Given the description of an element on the screen output the (x, y) to click on. 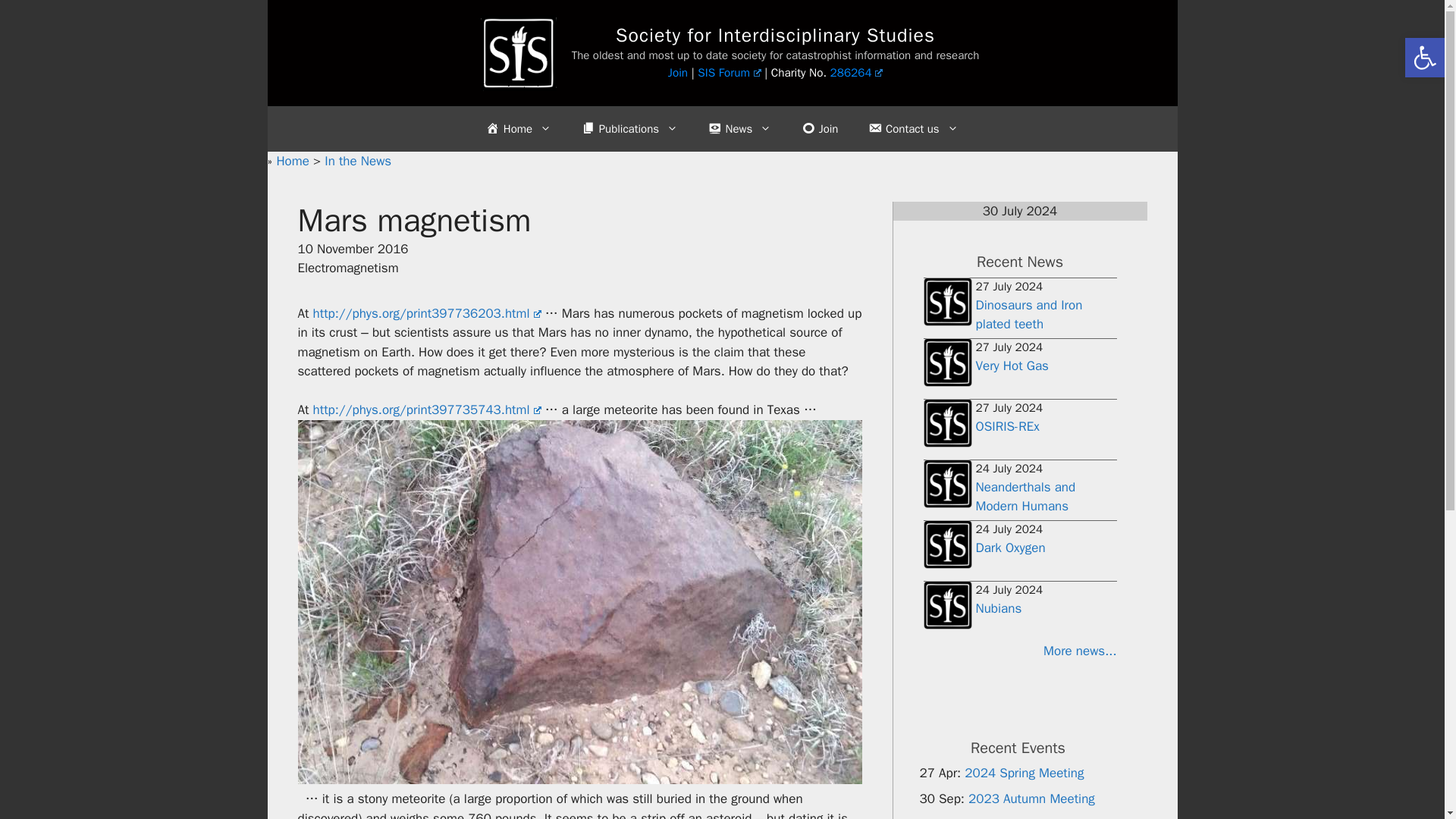
Join (677, 72)
Society for Interdisciplinary Studies (774, 34)
Join (819, 128)
Accessibility Tools (1424, 57)
Publications (629, 128)
SIS Forum (728, 72)
News (739, 128)
Home (518, 128)
286264 (856, 72)
Contact us (912, 128)
Home (294, 160)
